Given the description of an element on the screen output the (x, y) to click on. 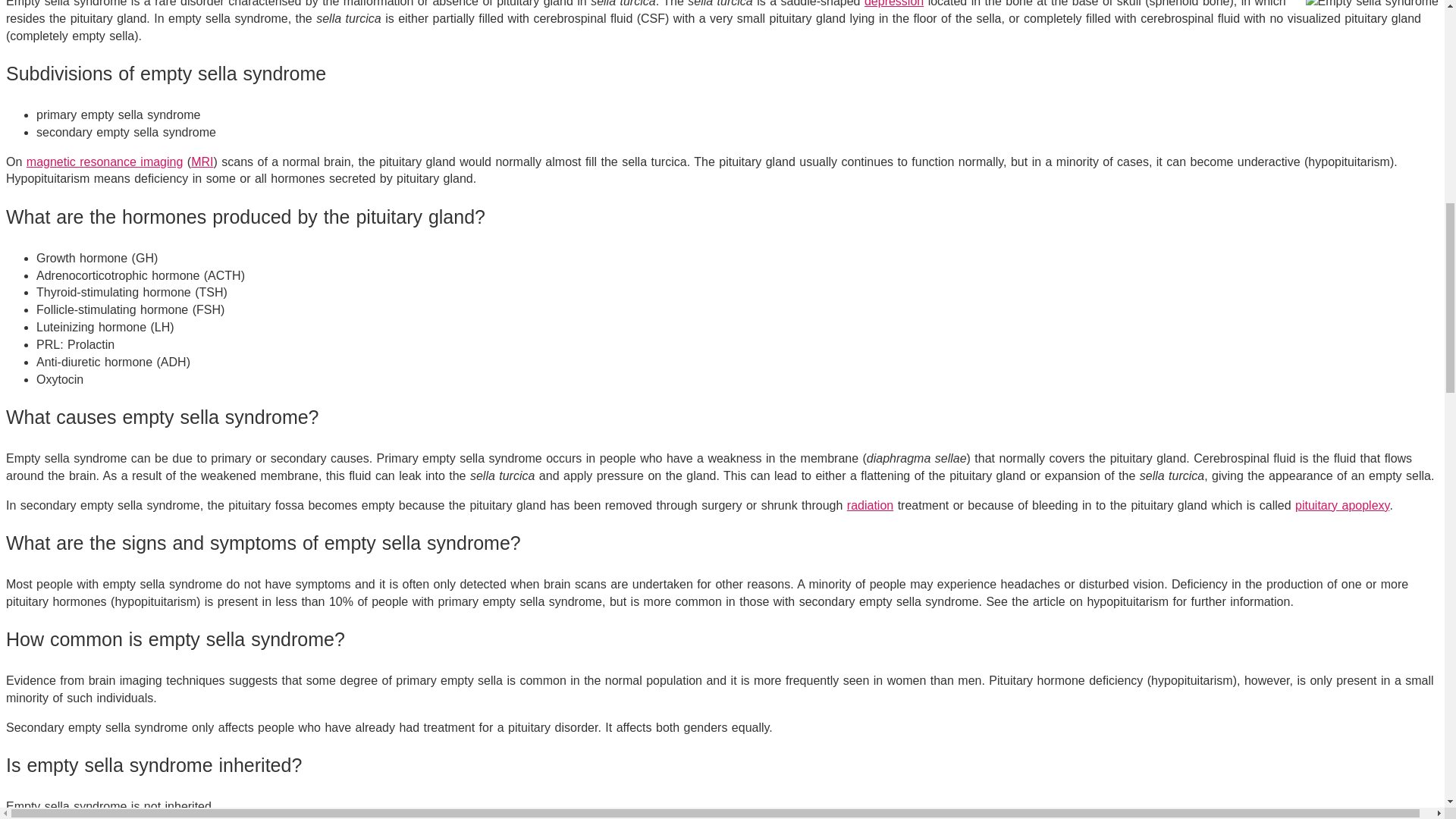
MRI (201, 161)
magnetic resonance imaging (104, 161)
pituitary apoplexy (1342, 504)
depression (893, 3)
MRI (201, 161)
radiation (870, 504)
depression (893, 3)
pituitary apoplexy (1342, 504)
magnetic resonance imaging (104, 161)
radiation (870, 504)
